Given the description of an element on the screen output the (x, y) to click on. 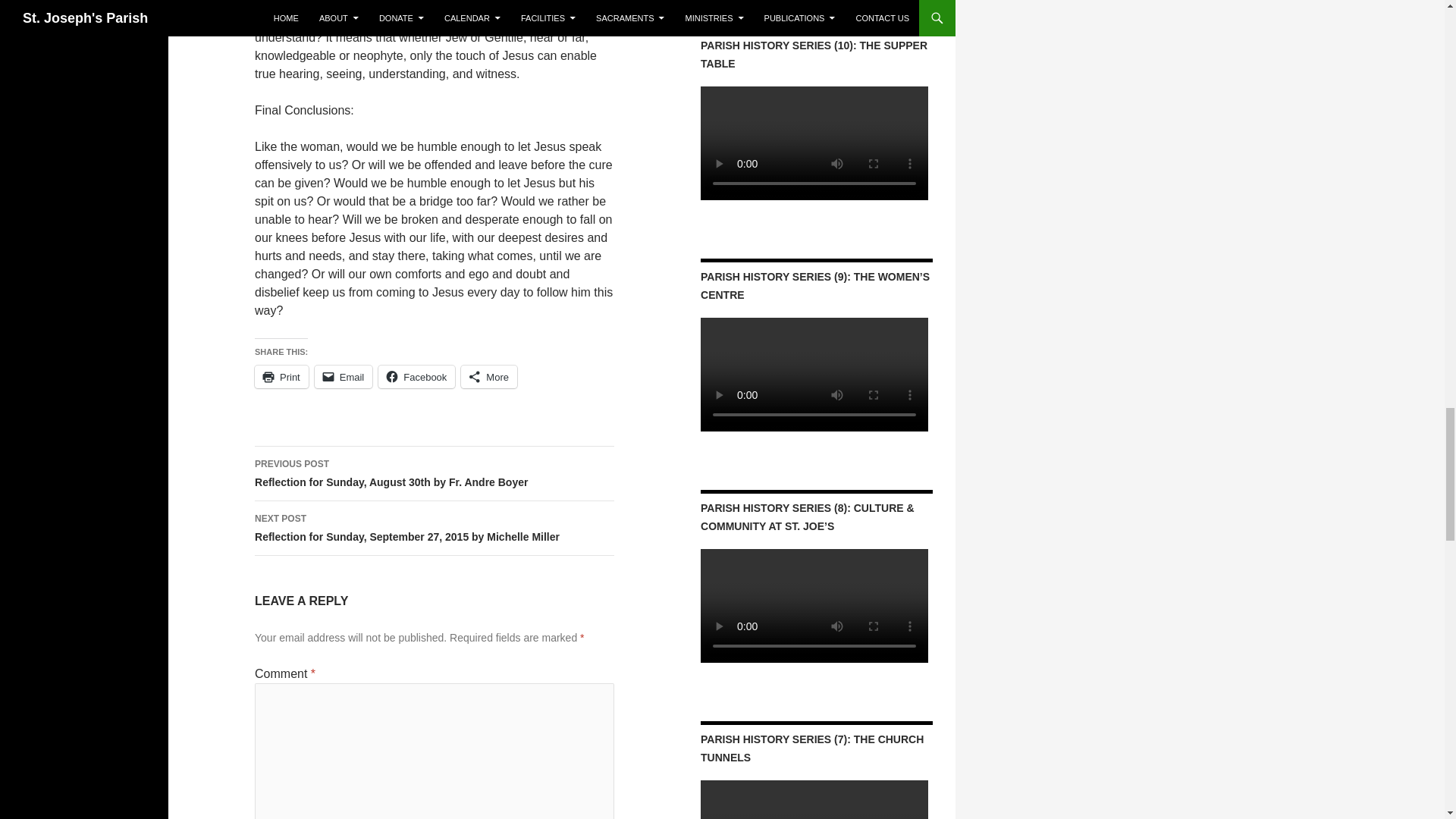
Click to print (281, 376)
Click to email a link to a friend (343, 376)
Click to share on Facebook (416, 376)
